Given the description of an element on the screen output the (x, y) to click on. 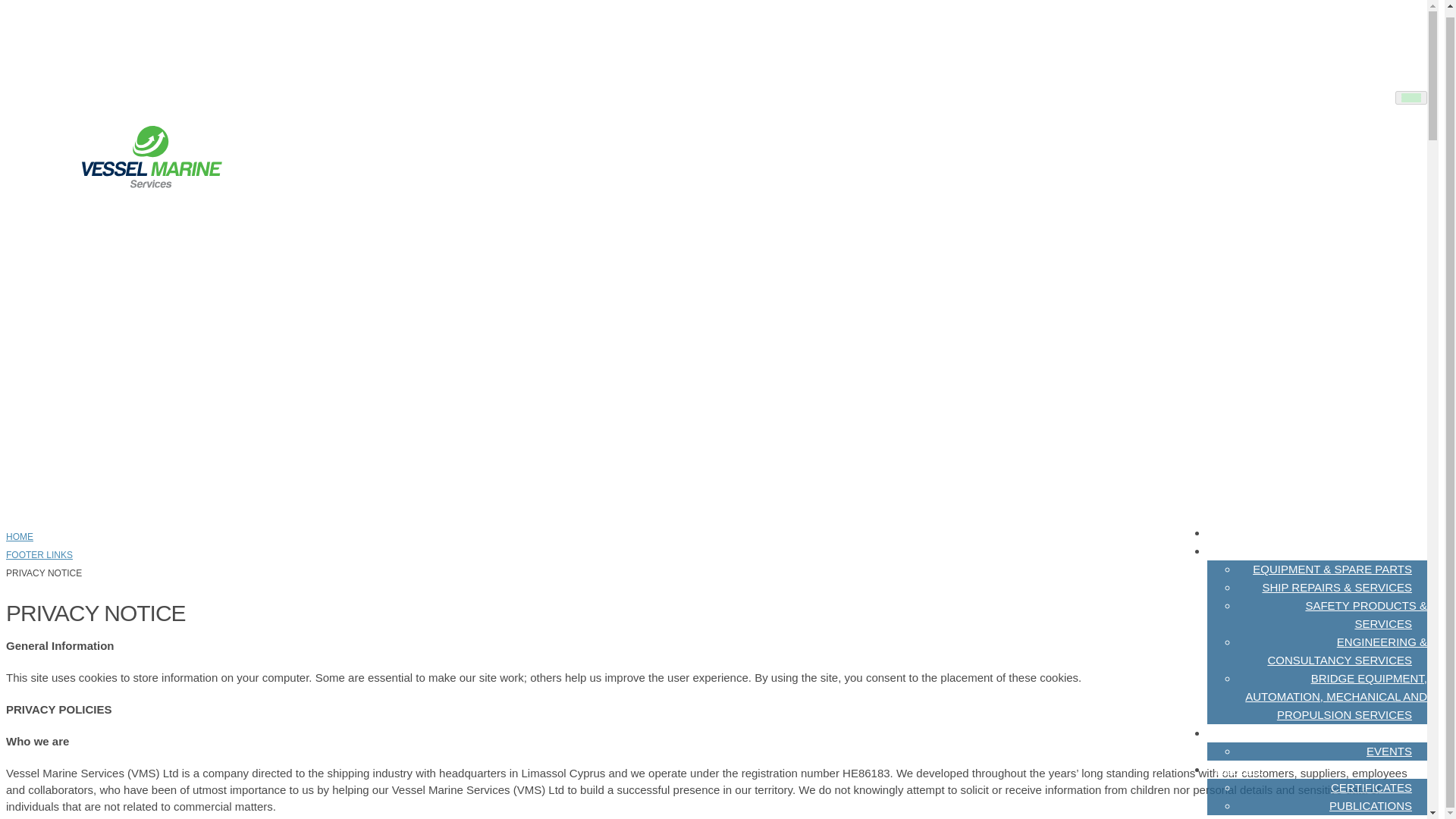
CONTACT (1241, 810)
LIBRARY (1239, 769)
About (1234, 532)
Toggle navigation (1410, 97)
PUBLICATIONS (1370, 805)
CERTIFICATES (1371, 787)
EVENTS (1388, 751)
NEWSROOM (1249, 732)
ABOUT (1234, 532)
